Given the description of an element on the screen output the (x, y) to click on. 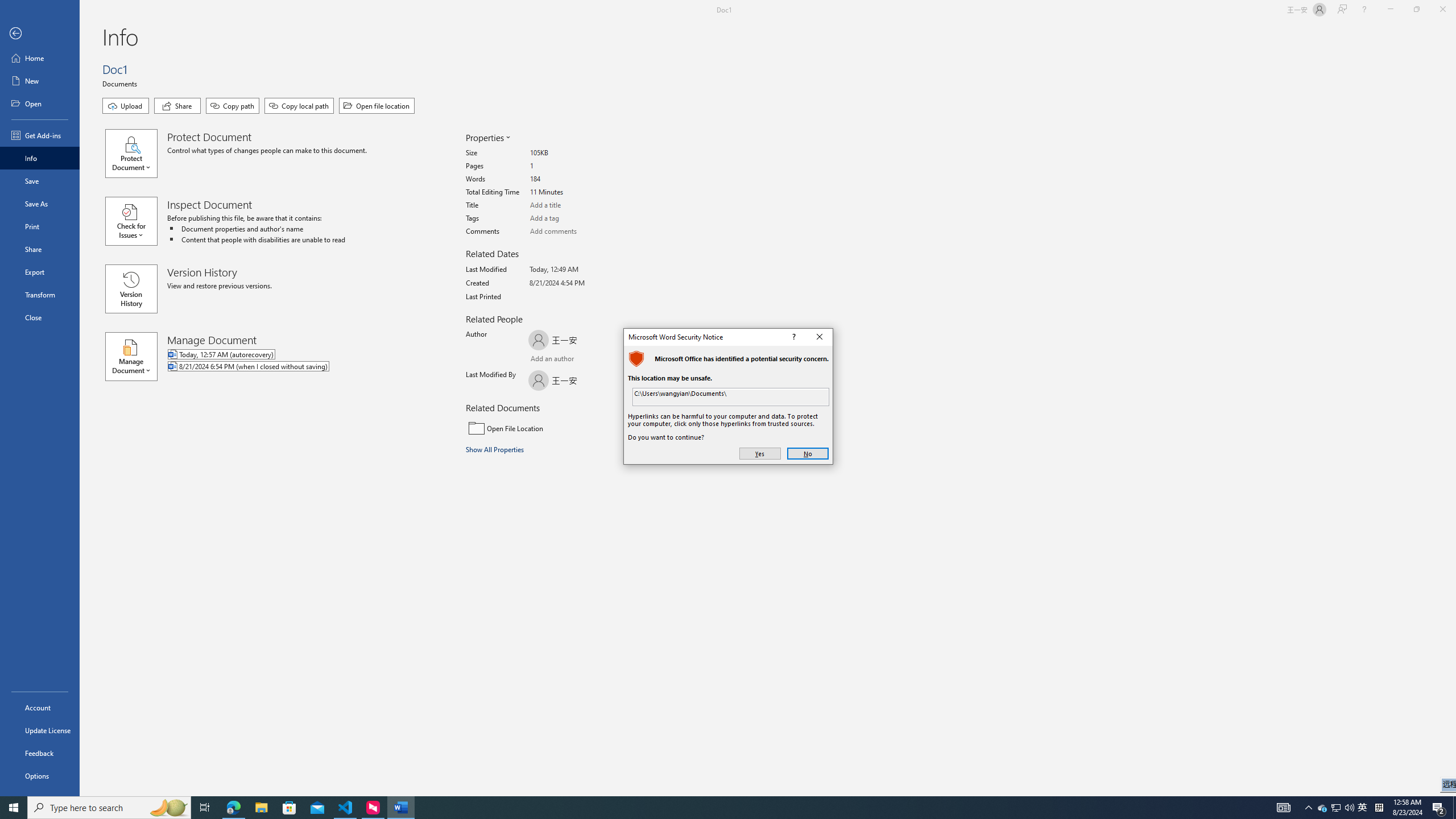
Copy path (232, 105)
Manage Document (135, 356)
Verify Names (1362, 807)
Feedback (559, 359)
Browse Address Book (40, 753)
Save As (595, 359)
